Given the description of an element on the screen output the (x, y) to click on. 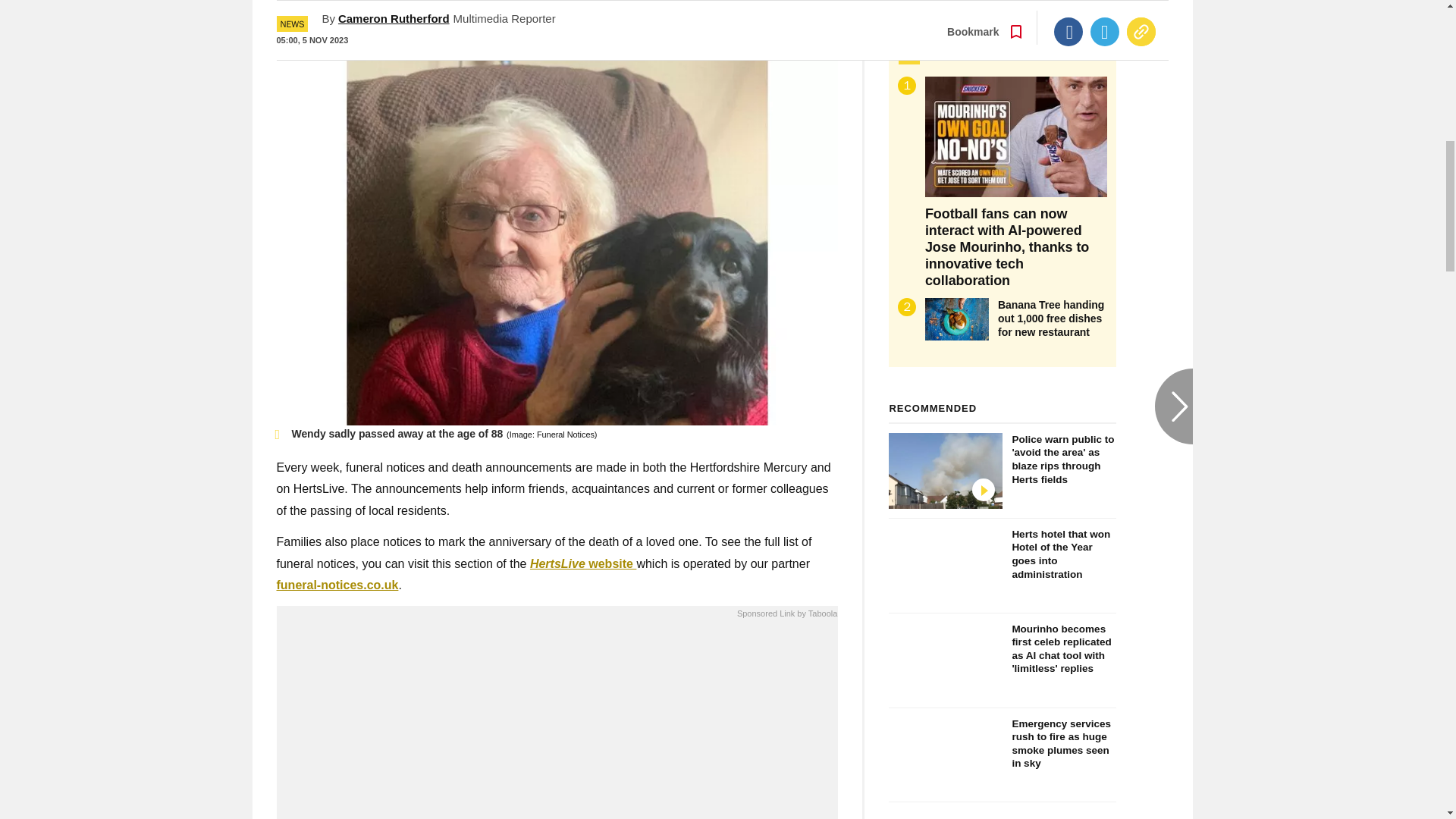
Go (730, 17)
